Given the description of an element on the screen output the (x, y) to click on. 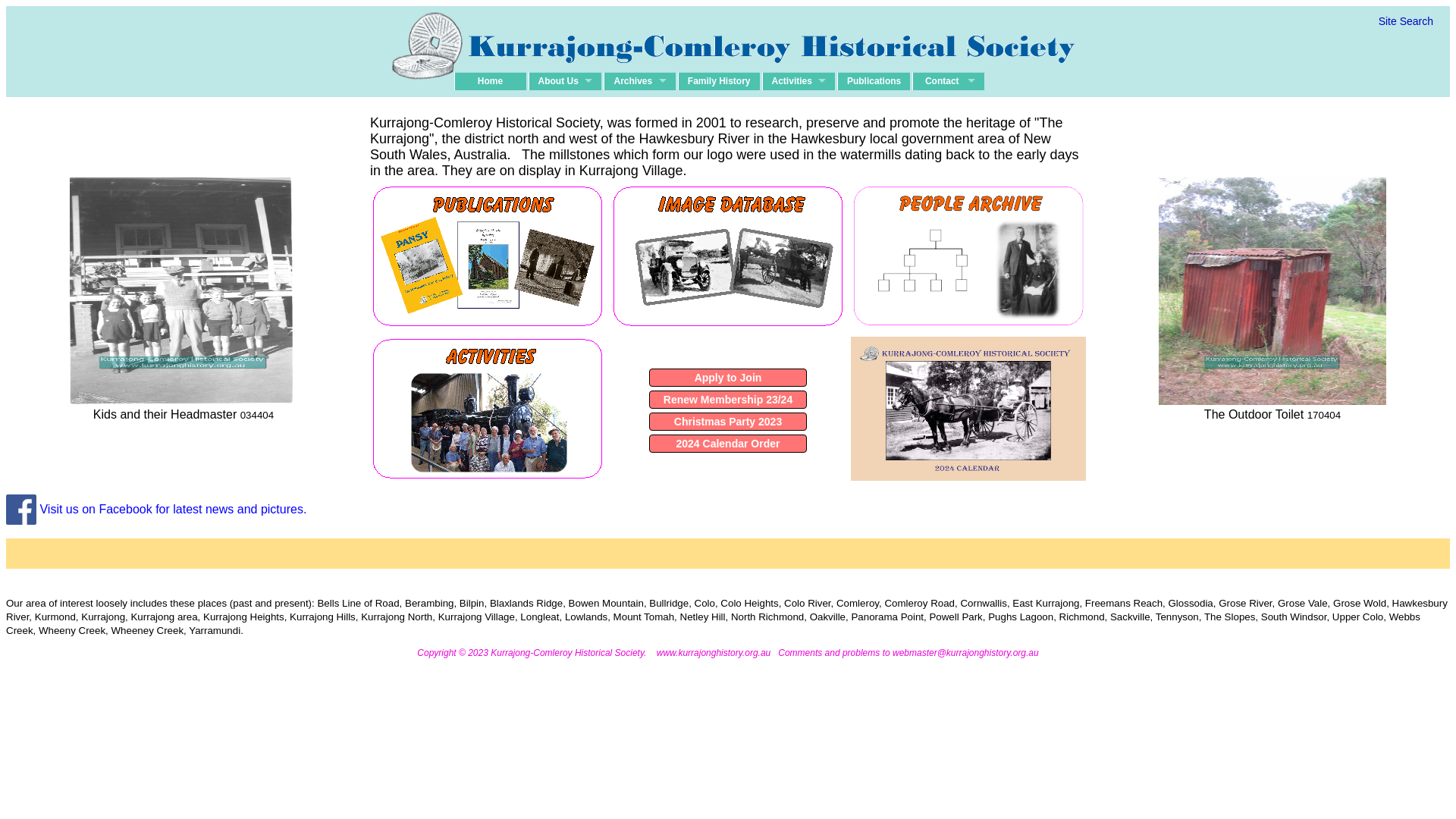
Visit us on Facebook for latest news and pictures. Element type: text (156, 508)
2024 Calendar Order Element type: text (727, 442)
About Us Element type: text (563, 81)
Publications Element type: text (873, 81)
Ref: 034404 Element type: hover (183, 290)
Renew Membership 23/24 Element type: text (727, 398)
webmaster@kurrajonghistory.org.au Element type: text (965, 652)
Activities Element type: text (798, 81)
Christmas Party 2023 Element type: text (727, 421)
Home Element type: text (489, 81)
Apply to Join Element type: text (727, 377)
Family History Element type: text (718, 81)
Ref: 170404 Element type: hover (1272, 290)
Archives Element type: text (639, 81)
Contact Element type: text (948, 81)
